Given the description of an element on the screen output the (x, y) to click on. 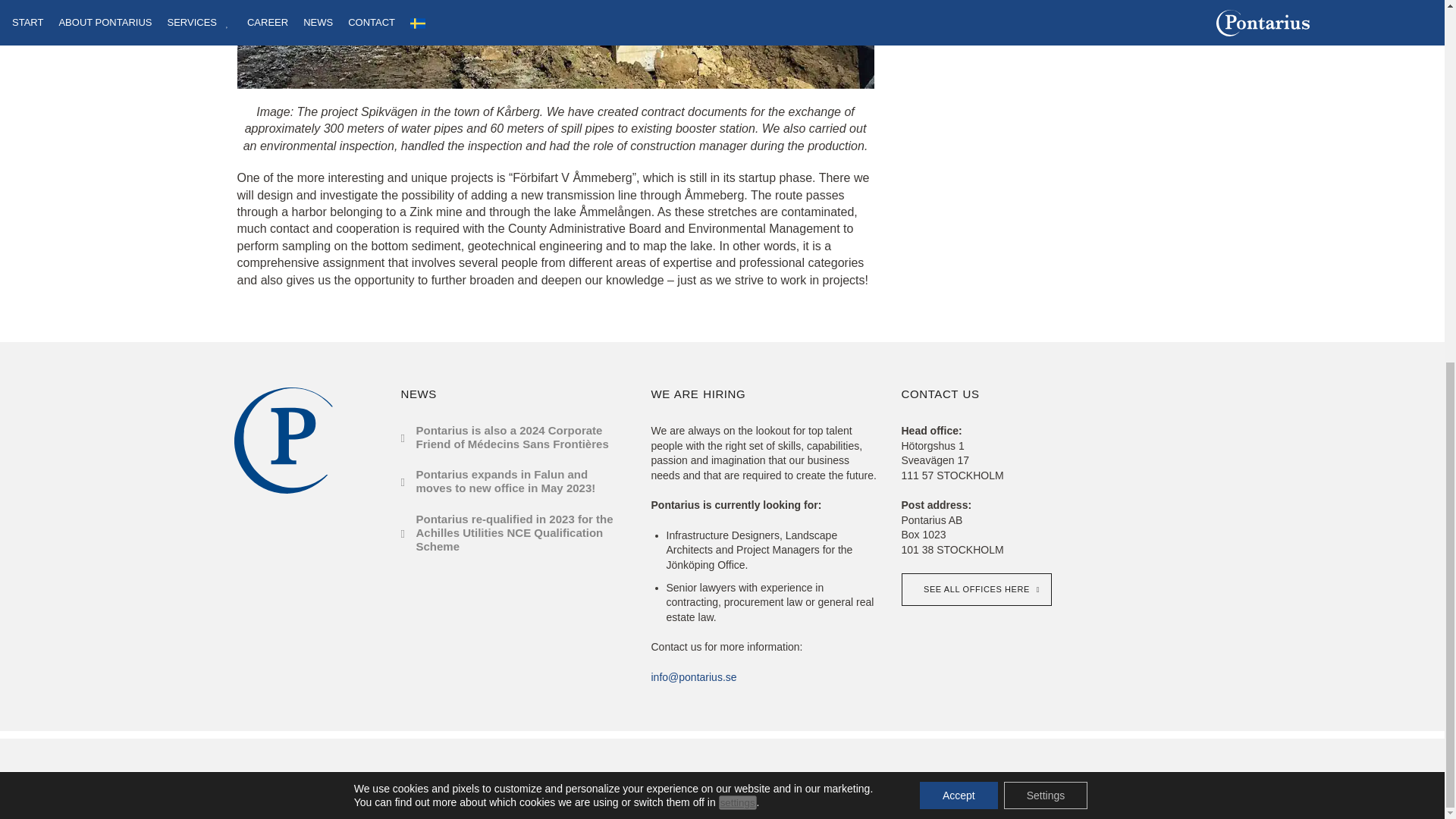
Settings (1045, 149)
Accept (958, 149)
SEE ALL OFFICES HERE (976, 589)
settings (738, 156)
